Given the description of an element on the screen output the (x, y) to click on. 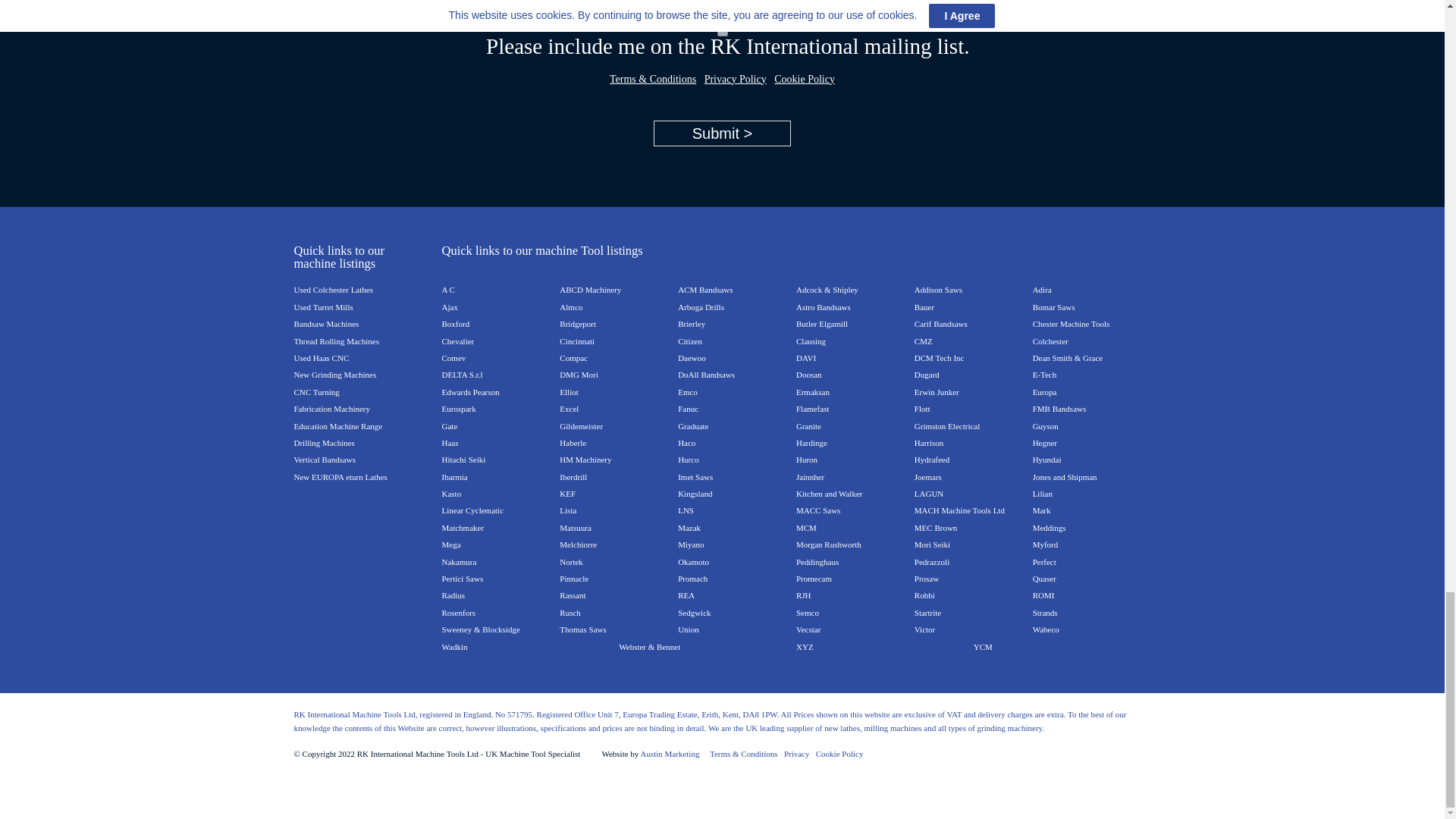
View all ads filed under ABCD Machinery (590, 287)
View all ads filed under Almco (570, 305)
View all ads filed under Addison Saws (938, 287)
View all ads filed under ACM Bandsaws (705, 287)
View all ads filed under Bomar Saws (1053, 305)
View all ads filed under Adira (1041, 287)
View all ads filed under A C (447, 287)
View all ads filed under Astro Bandsaws (823, 305)
View all ads filed under Boxford (454, 322)
View all ads filed under Arboga Drills (700, 305)
